Given the description of an element on the screen output the (x, y) to click on. 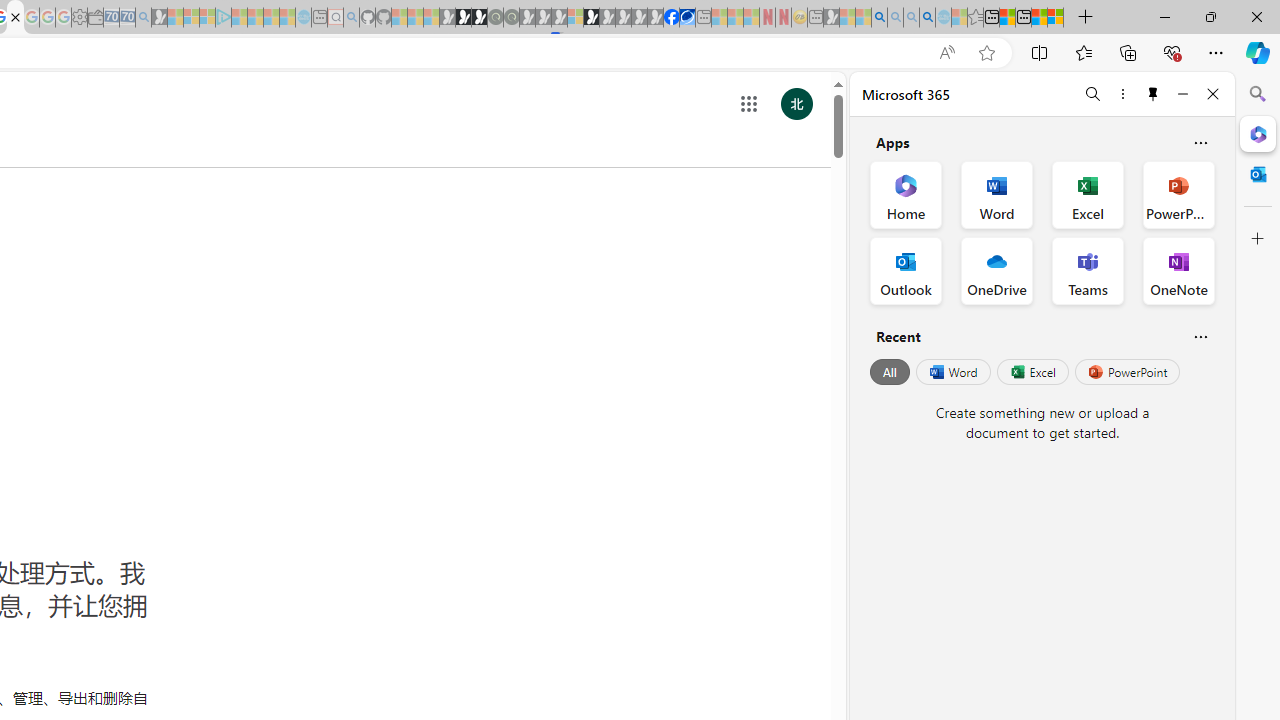
Is this helpful? (1200, 336)
Close Microsoft 365 pane (1258, 133)
Aberdeen, Hong Kong SAR weather forecast | Microsoft Weather (1007, 17)
Play Zoo Boom in your browser | Games from Microsoft Start (463, 17)
